Given the description of an element on the screen output the (x, y) to click on. 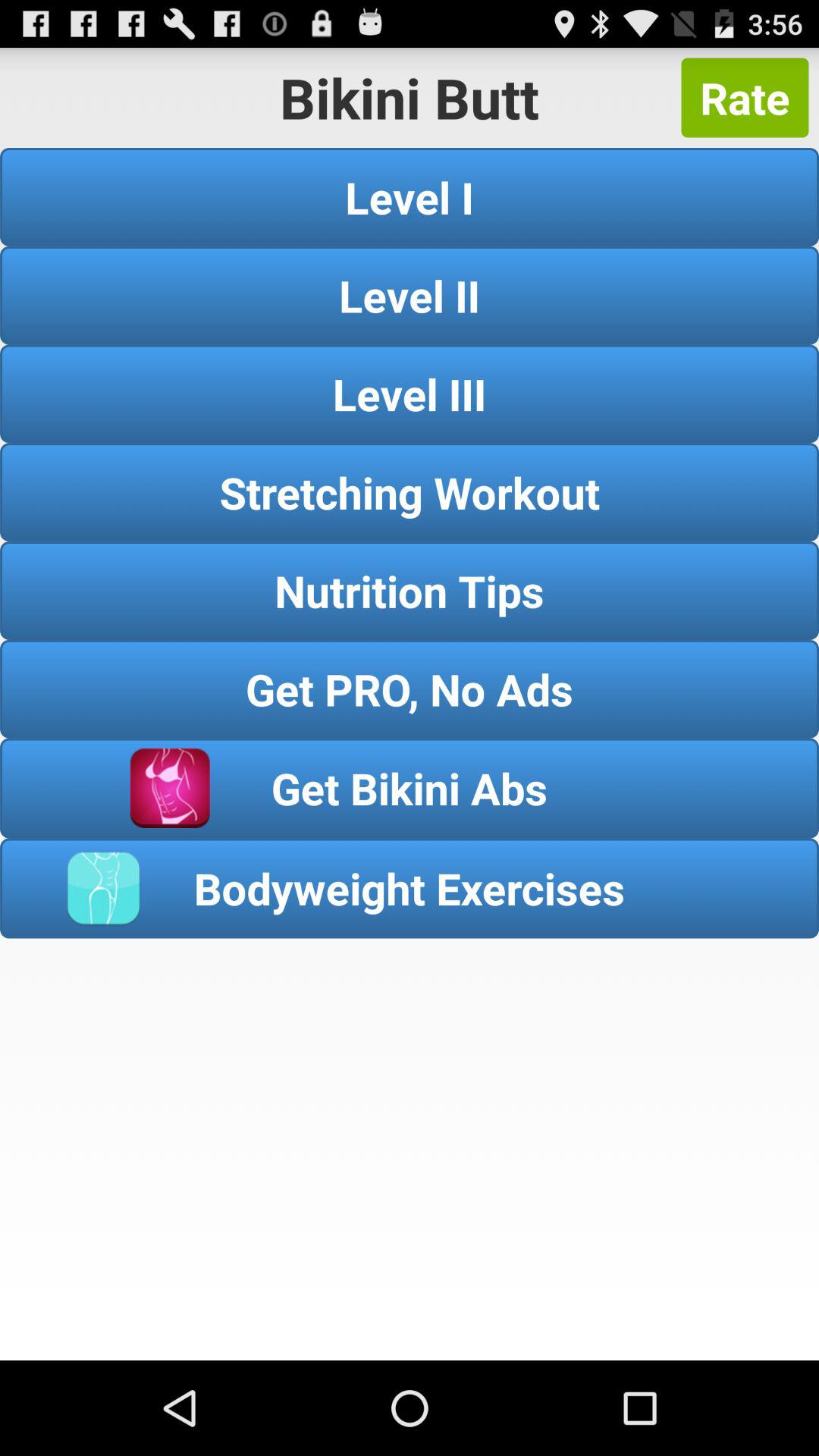
press stretching workout (409, 492)
